Given the description of an element on the screen output the (x, y) to click on. 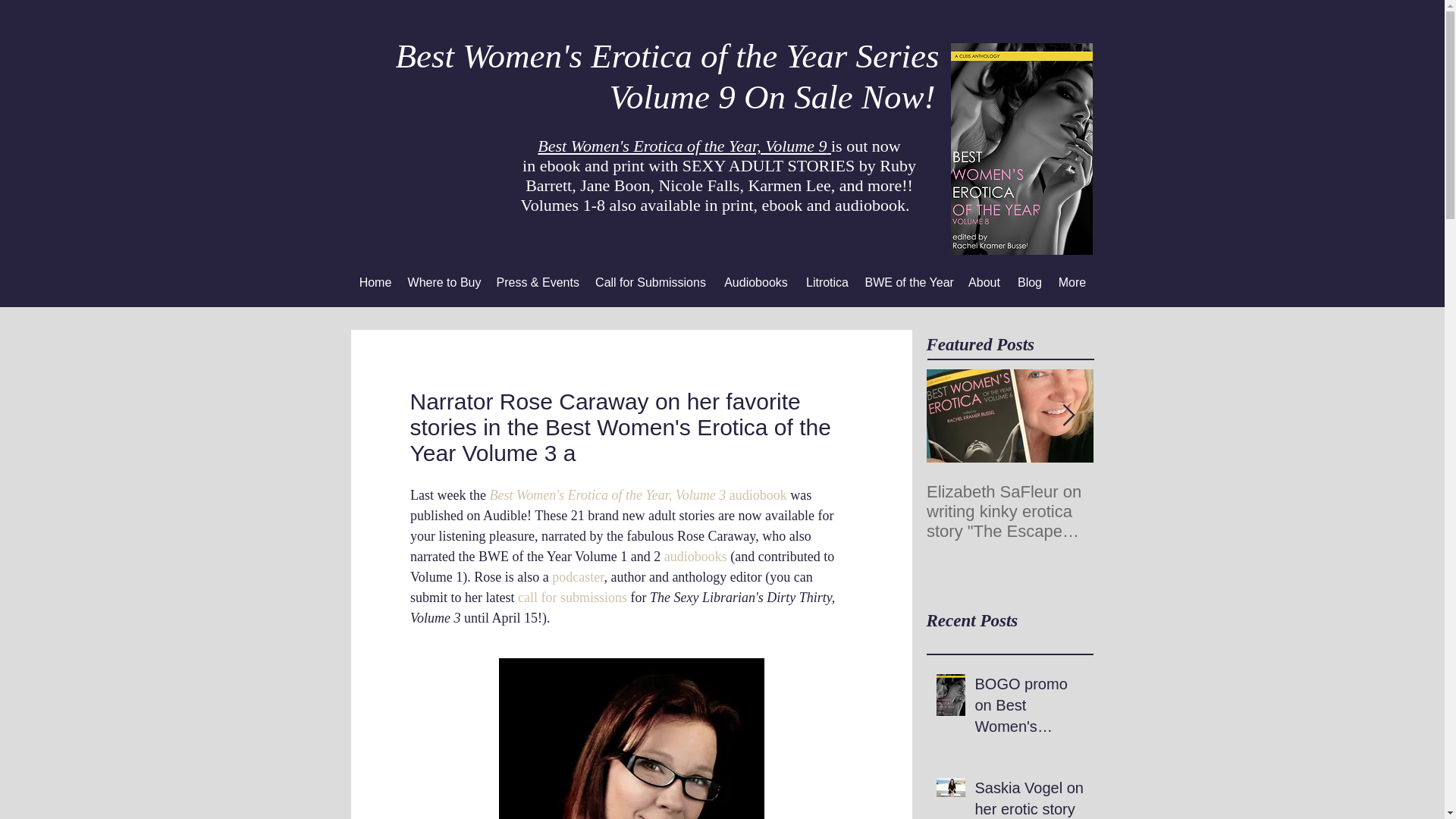
podcaster (577, 576)
Call for Submissions (650, 282)
Home (374, 282)
Best Women's Erotica of the Year, Volume 3 (607, 494)
audiobooks (694, 556)
Litrotica (827, 282)
Best Women's Erotica of the Year, Volume 9  (684, 145)
Where to Buy (444, 282)
Saskia Vogel on her erotic story "Cream" (1029, 798)
BOGO promo on Best Women's Erotica of the Year, Volume 8 (1029, 707)
call for submissions (571, 597)
Audiobooks (755, 282)
 audiobook (756, 494)
